Given the description of an element on the screen output the (x, y) to click on. 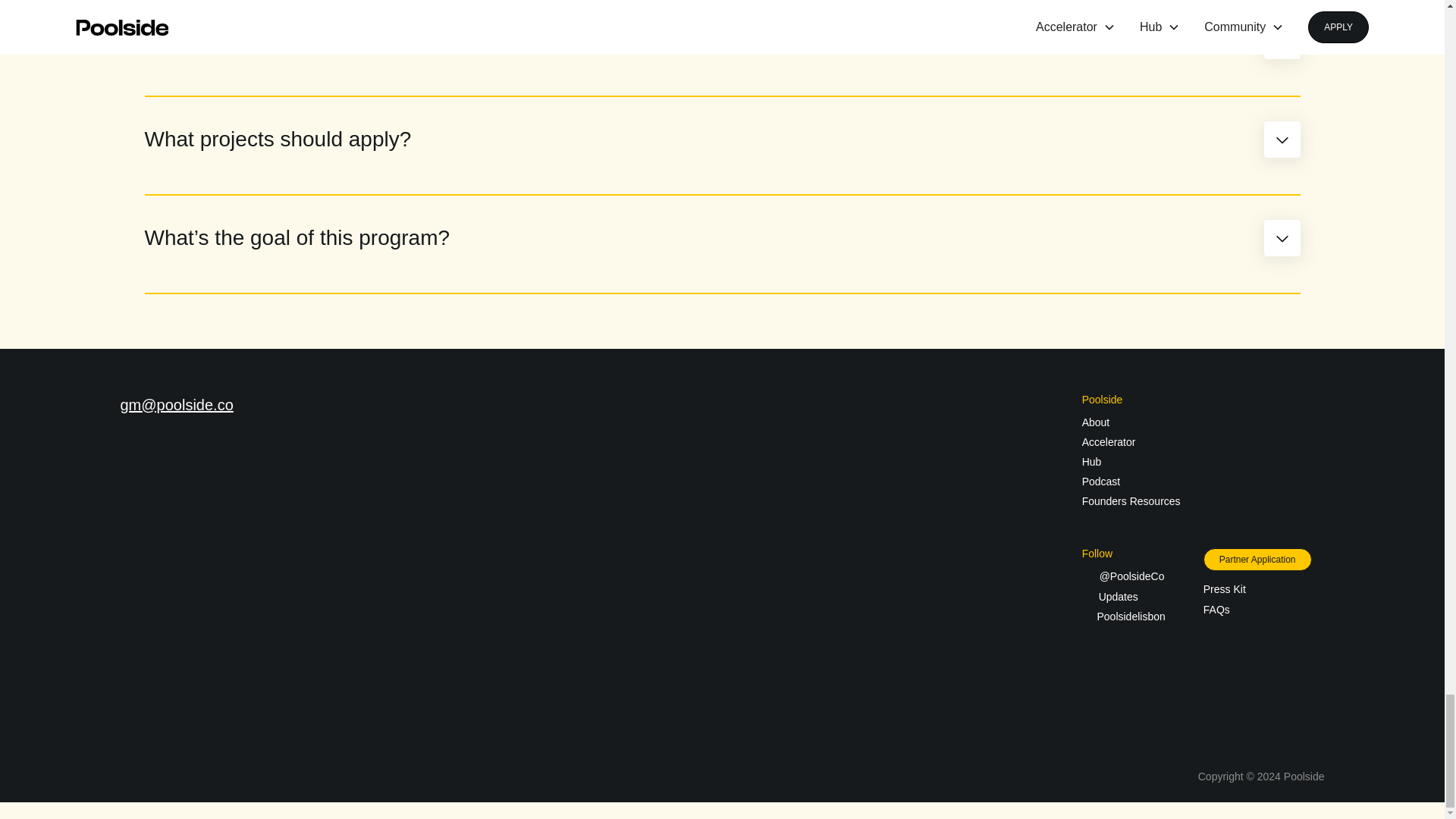
Podcast (1101, 480)
Hub (1091, 461)
About (1095, 421)
Accelerator (1108, 441)
Updates (1109, 596)
Founders Resources (1130, 501)
